Given the description of an element on the screen output the (x, y) to click on. 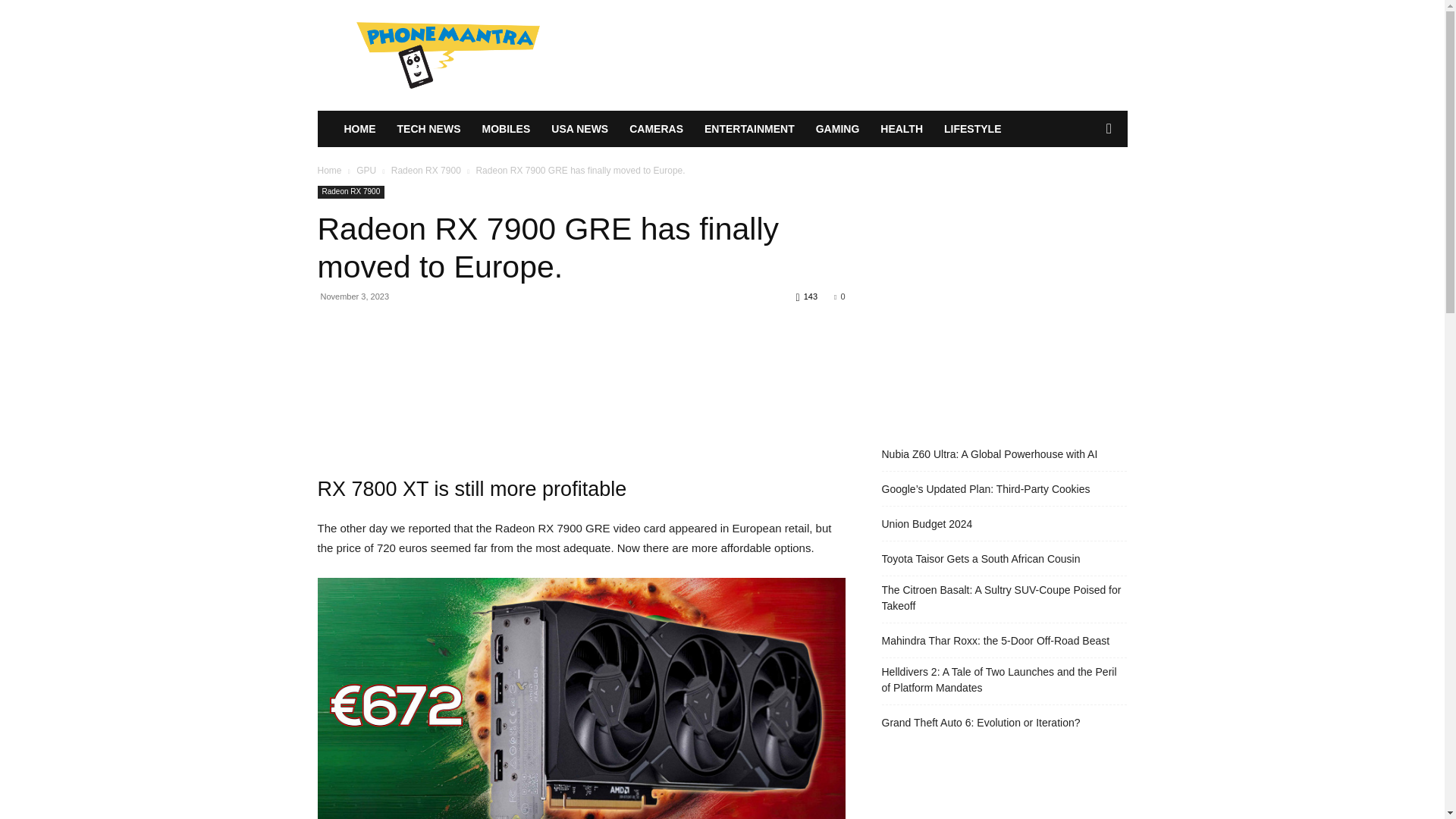
0 (839, 296)
ENTERTAINMENT (749, 128)
Phonemantra (446, 55)
LIFESTYLE (972, 128)
Radeon RX 7900 GRE (580, 698)
Advertisement (580, 386)
View all posts in GPU (365, 170)
GAMING (837, 128)
HEALTH (901, 128)
Search (1085, 189)
CAMERAS (656, 128)
USA NEWS (579, 128)
GPU (365, 170)
TECH NEWS (429, 128)
Home (328, 170)
